Given the description of an element on the screen output the (x, y) to click on. 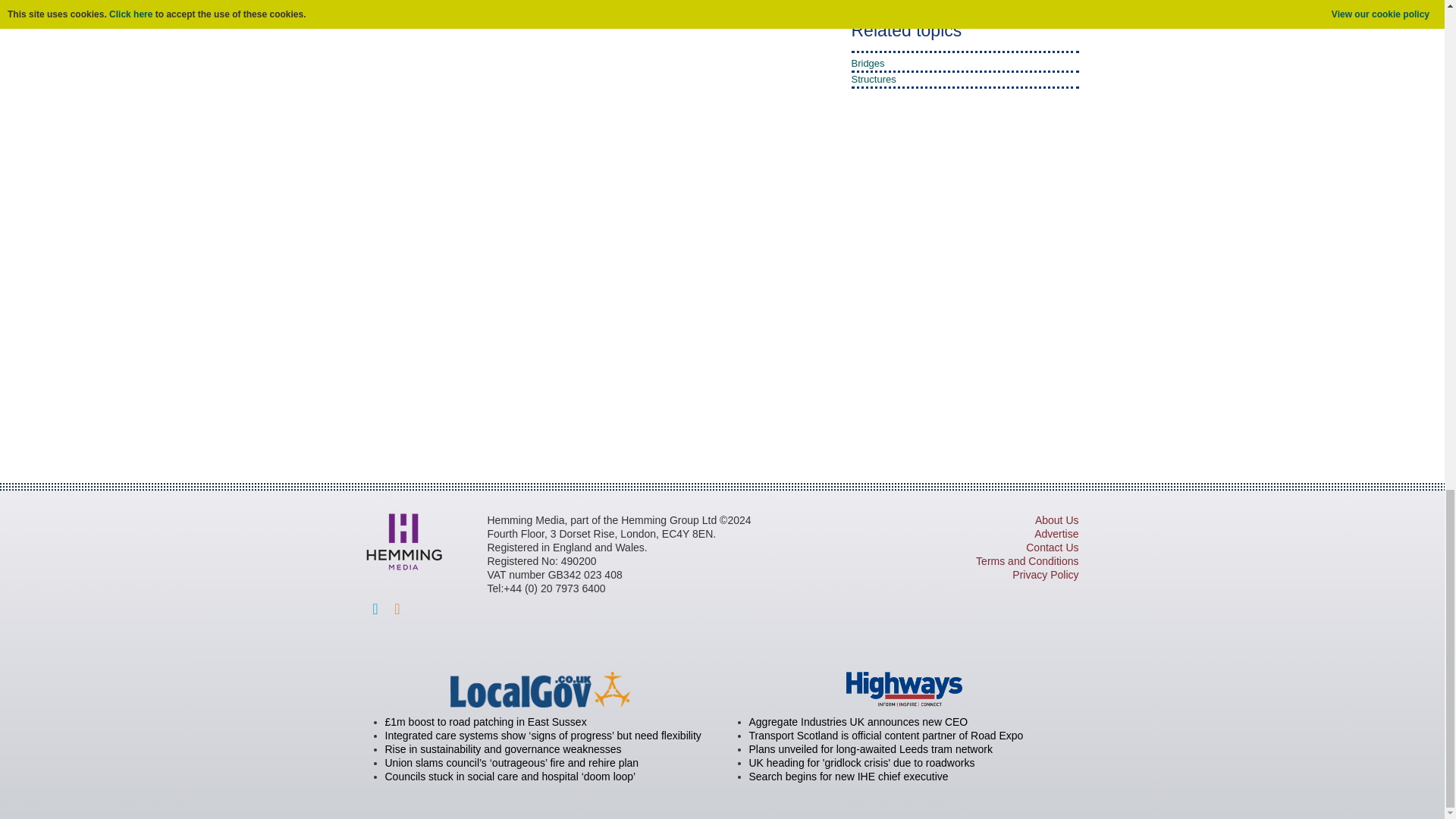
3rd party ad content (907, 272)
3rd party ad content (721, 403)
